Given the description of an element on the screen output the (x, y) to click on. 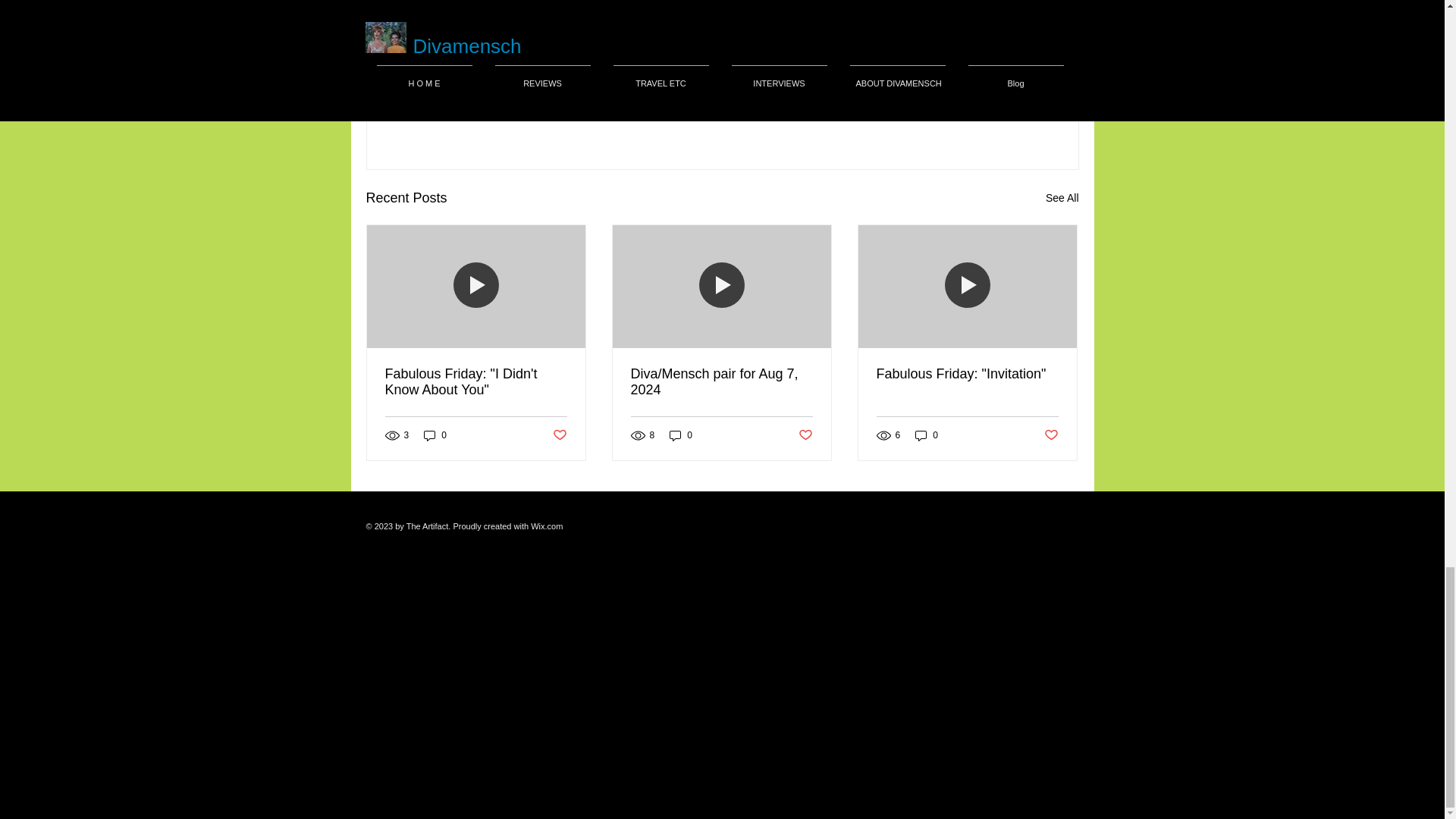
Post not marked as liked (804, 435)
Post not marked as liked (995, 115)
Fabulous Friday: "Invitation" (967, 374)
See All (1061, 198)
Post not marked as liked (558, 435)
0 (435, 435)
0 (681, 435)
Fabulous Friday: "I Didn't Know About You" (476, 382)
